Given the description of an element on the screen output the (x, y) to click on. 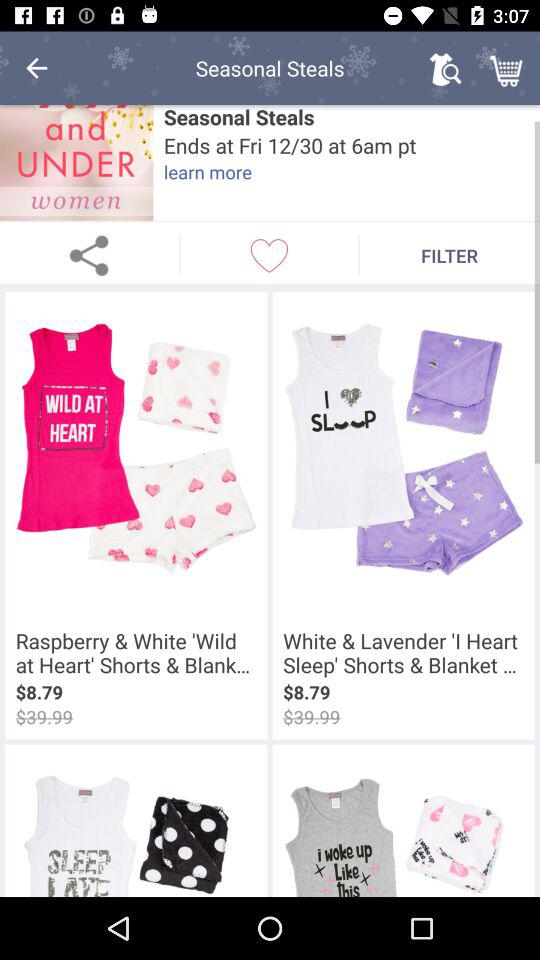
share the page (89, 255)
